Given the description of an element on the screen output the (x, y) to click on. 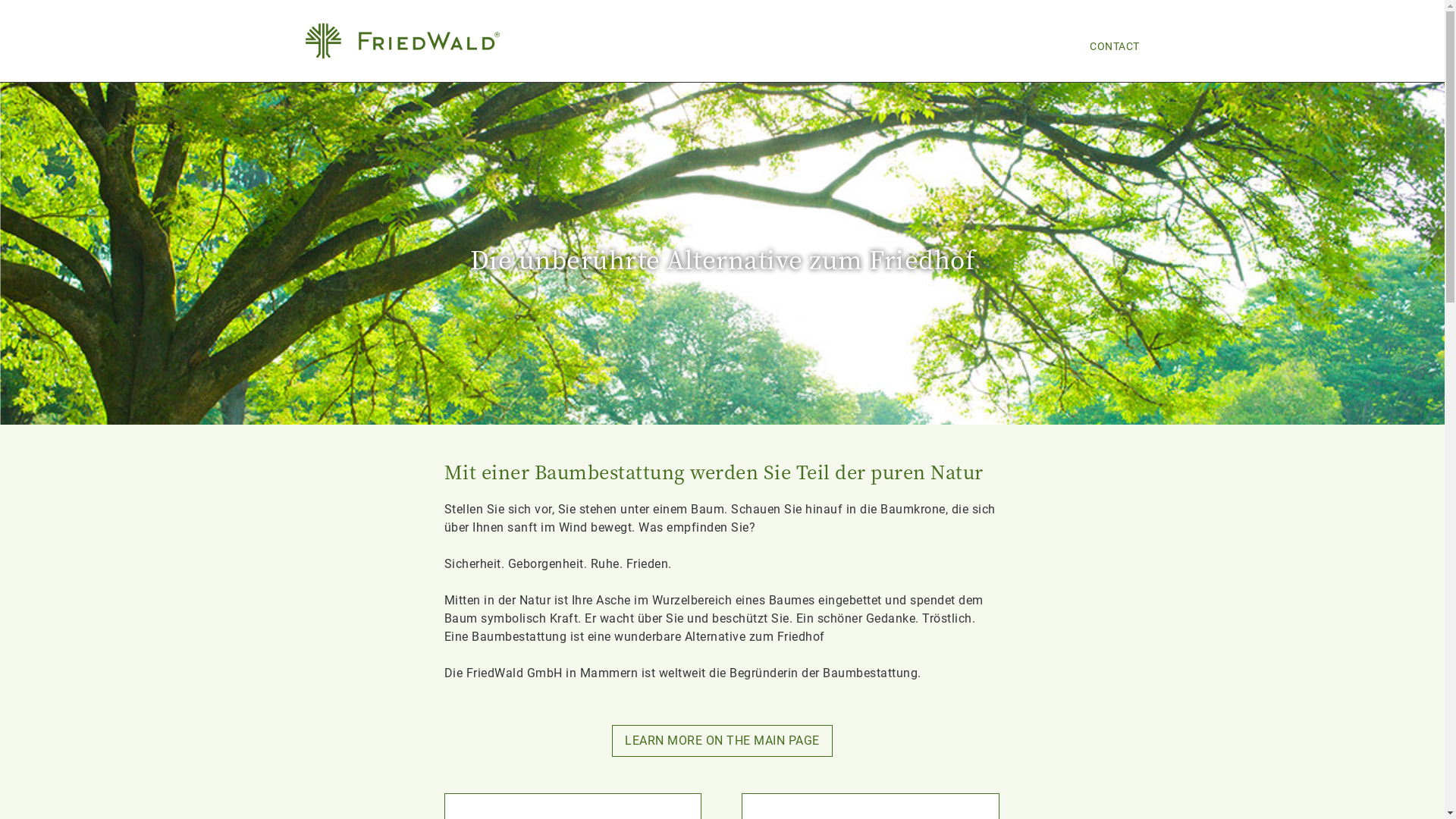
CONTACT Element type: text (1108, 46)
LEARN MORE ON THE MAIN PAGE Element type: text (721, 740)
